Given the description of an element on the screen output the (x, y) to click on. 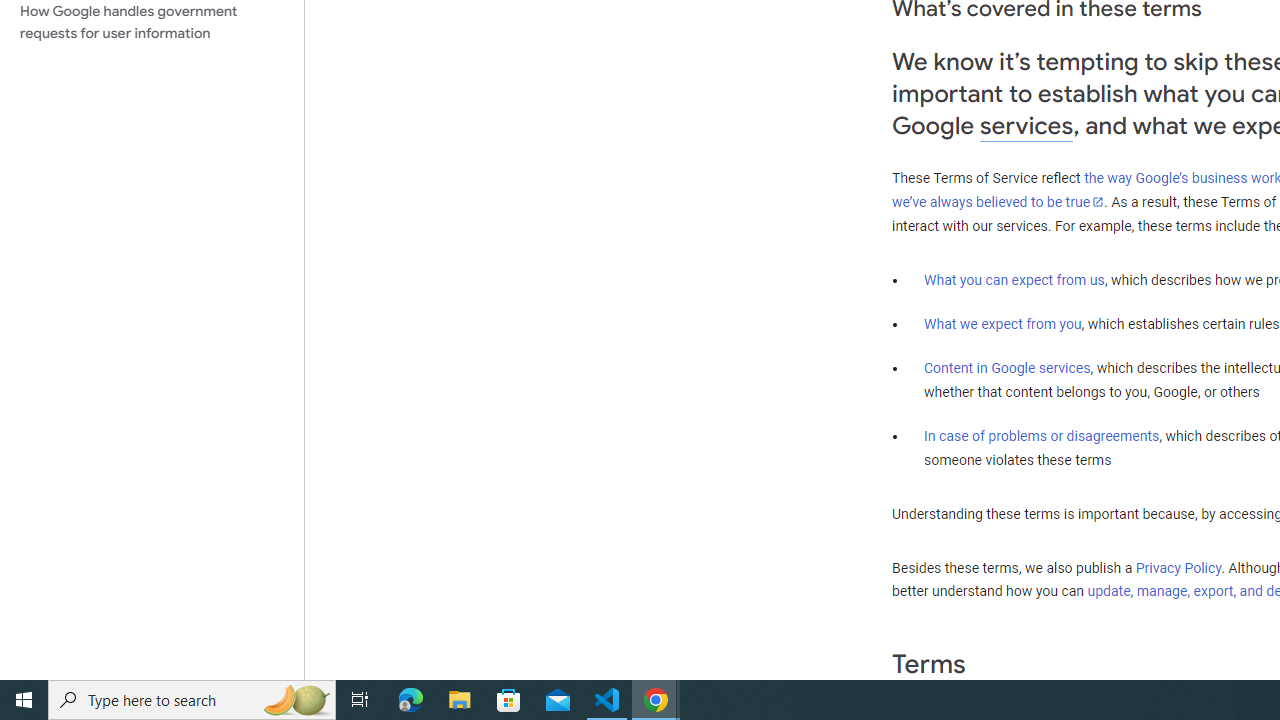
Content in Google services (1007, 368)
In case of problems or disagreements (1041, 435)
services (1026, 125)
What you can expect from us (1014, 279)
What we expect from you (1002, 323)
